Given the description of an element on the screen output the (x, y) to click on. 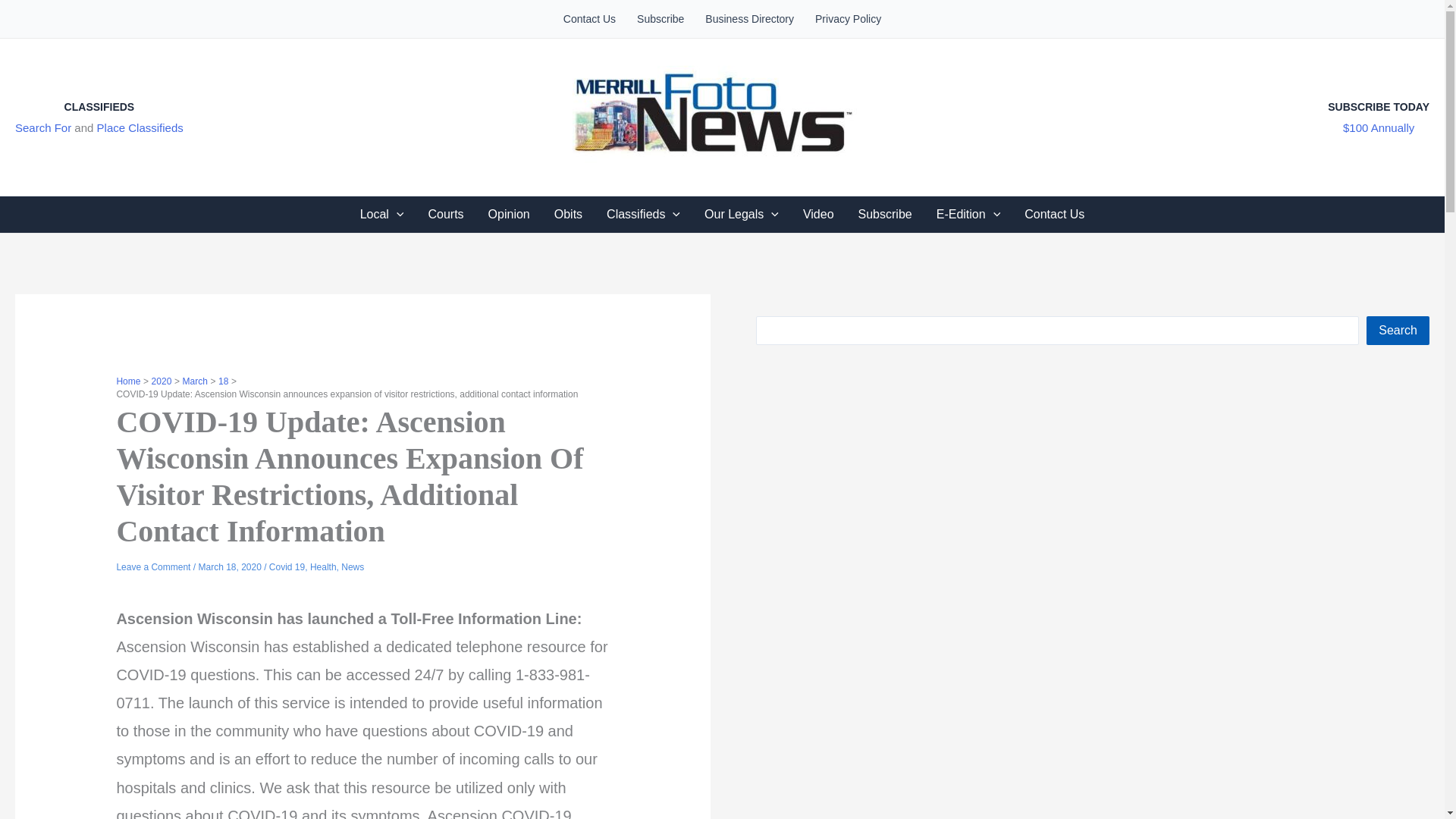
Courts (445, 214)
Classifieds (643, 214)
Video (817, 214)
Obits (567, 214)
Subscribe (884, 214)
Business Directory (749, 18)
Local (381, 214)
Privacy Policy (848, 18)
Contact Us (589, 18)
Opinion (508, 214)
